Given the description of an element on the screen output the (x, y) to click on. 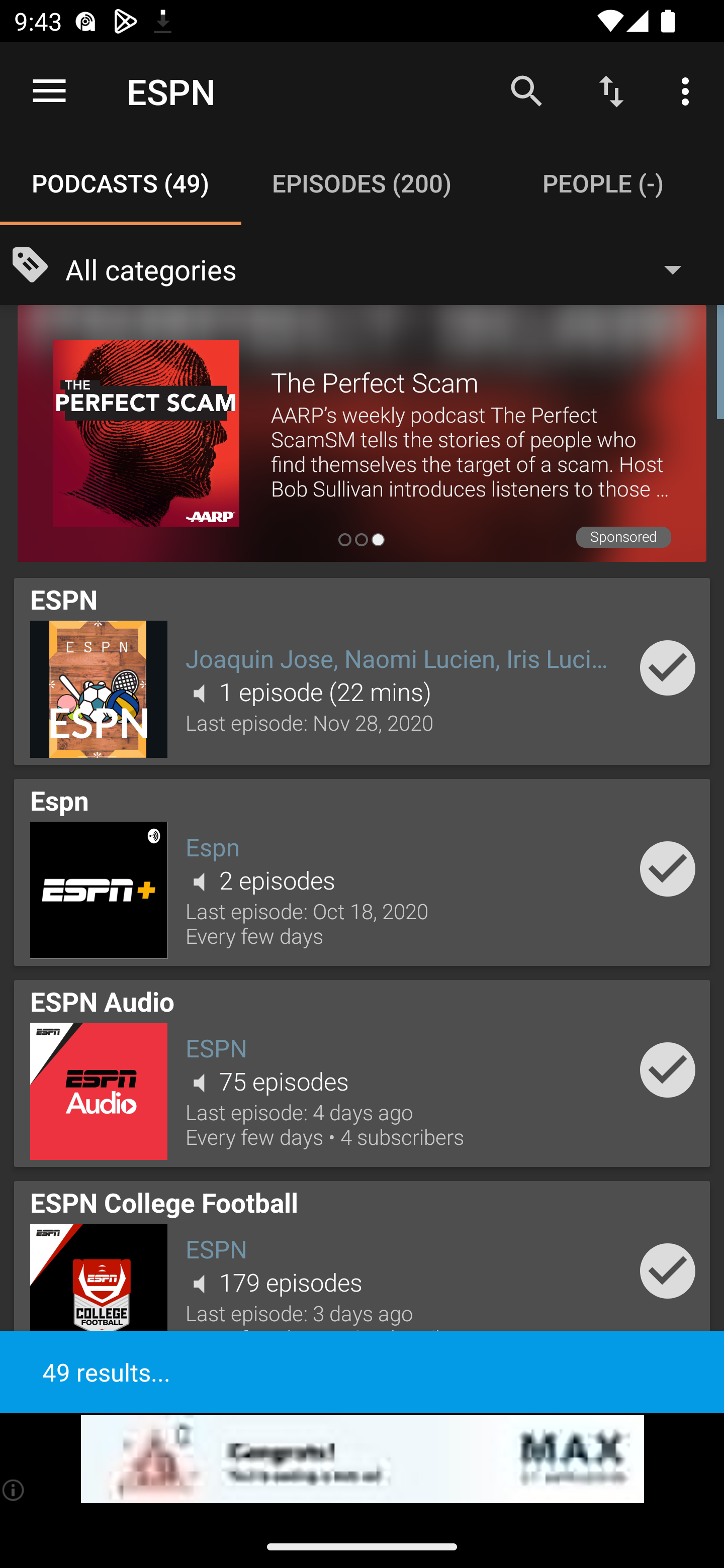
Open navigation sidebar (49, 91)
Search (526, 90)
Sort (611, 90)
More options (688, 90)
Episodes (200) EPISODES (200) (361, 183)
People (-) PEOPLE (-) (603, 183)
All categories (383, 268)
Add (667, 667)
Add (667, 868)
Add (667, 1069)
Add (667, 1271)
app-monetization (362, 1459)
(i) (14, 1489)
